Given the description of an element on the screen output the (x, y) to click on. 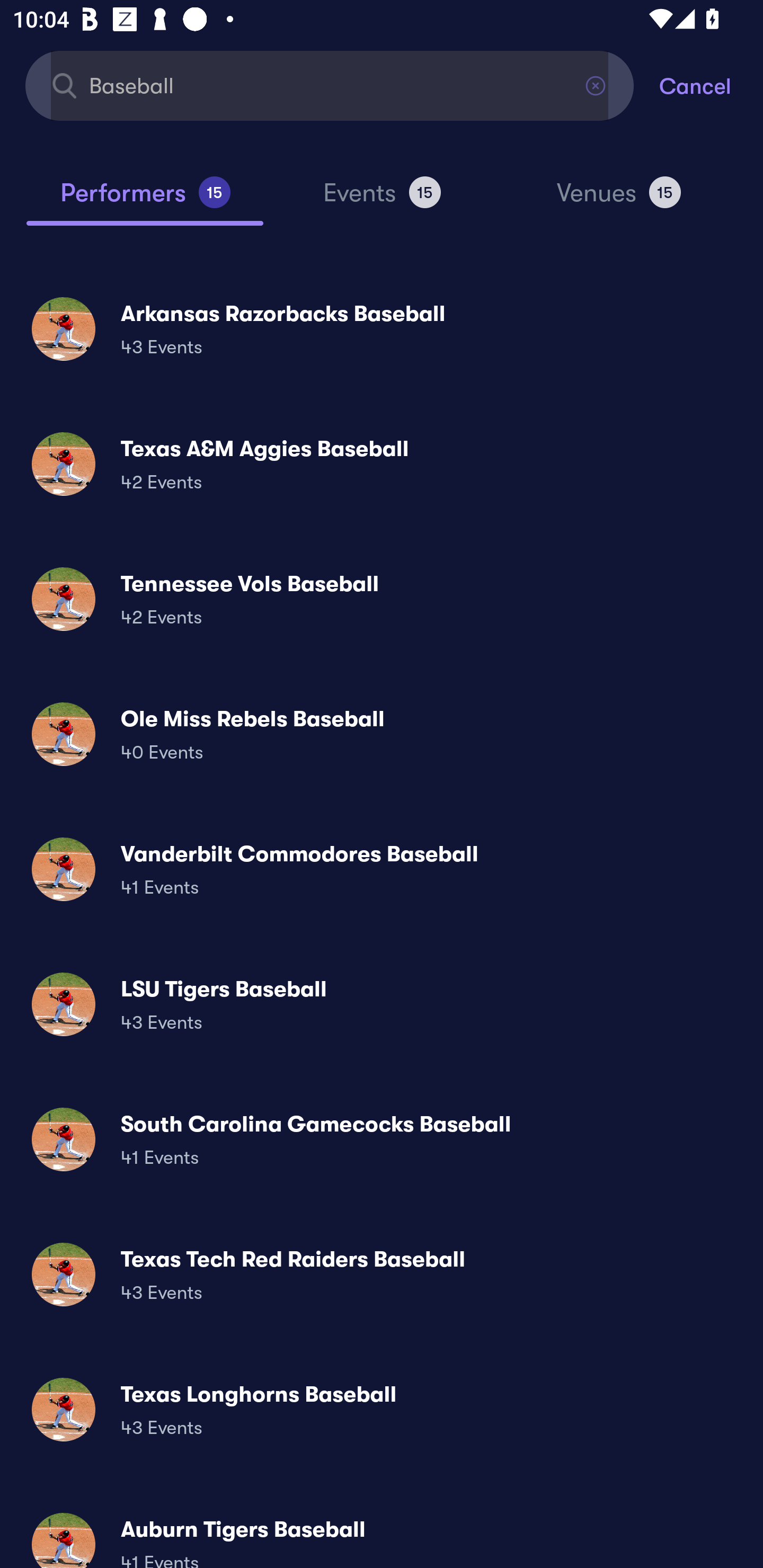
Baseball Find (329, 85)
Baseball Find (329, 85)
Cancel (711, 85)
Performers 15 (144, 200)
Events 15 (381, 200)
Venues 15 (618, 200)
Arkansas Razorbacks Baseball 43 Events (381, 328)
Texas A&M Aggies Baseball 42 Events (381, 464)
Tennessee Vols Baseball 42 Events (381, 598)
Ole Miss Rebels Baseball 40 Events (381, 734)
Vanderbilt Commodores Baseball 41 Events (381, 869)
LSU Tigers Baseball 43 Events (381, 1004)
South Carolina Gamecocks Baseball 41 Events (381, 1138)
Texas Tech Red Raiders Baseball 43 Events (381, 1273)
Texas Longhorns Baseball 43 Events (381, 1409)
Auburn Tigers Baseball 41 Events (381, 1532)
